Given the description of an element on the screen output the (x, y) to click on. 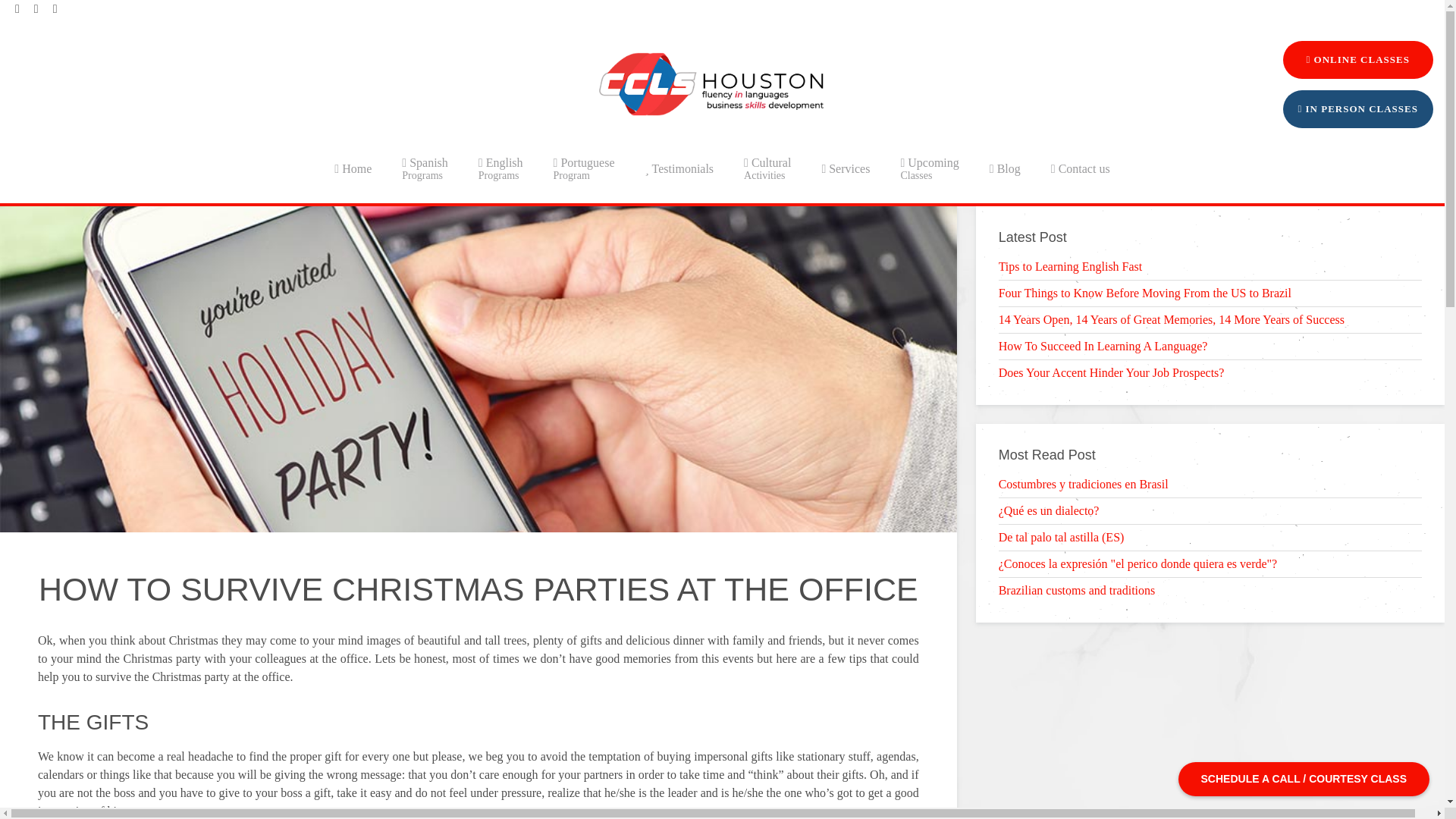
Testimonials (584, 169)
ONLINE CLASSES (679, 169)
CCLS Houston (767, 169)
Home (1358, 59)
Services (710, 84)
Four Things to Know Before Moving From the US to Brazil (352, 169)
Tips to Learning English Fast (845, 169)
Contact us (425, 169)
IN PERSON CLASSES (1144, 292)
Blog (929, 169)
